Given the description of an element on the screen output the (x, y) to click on. 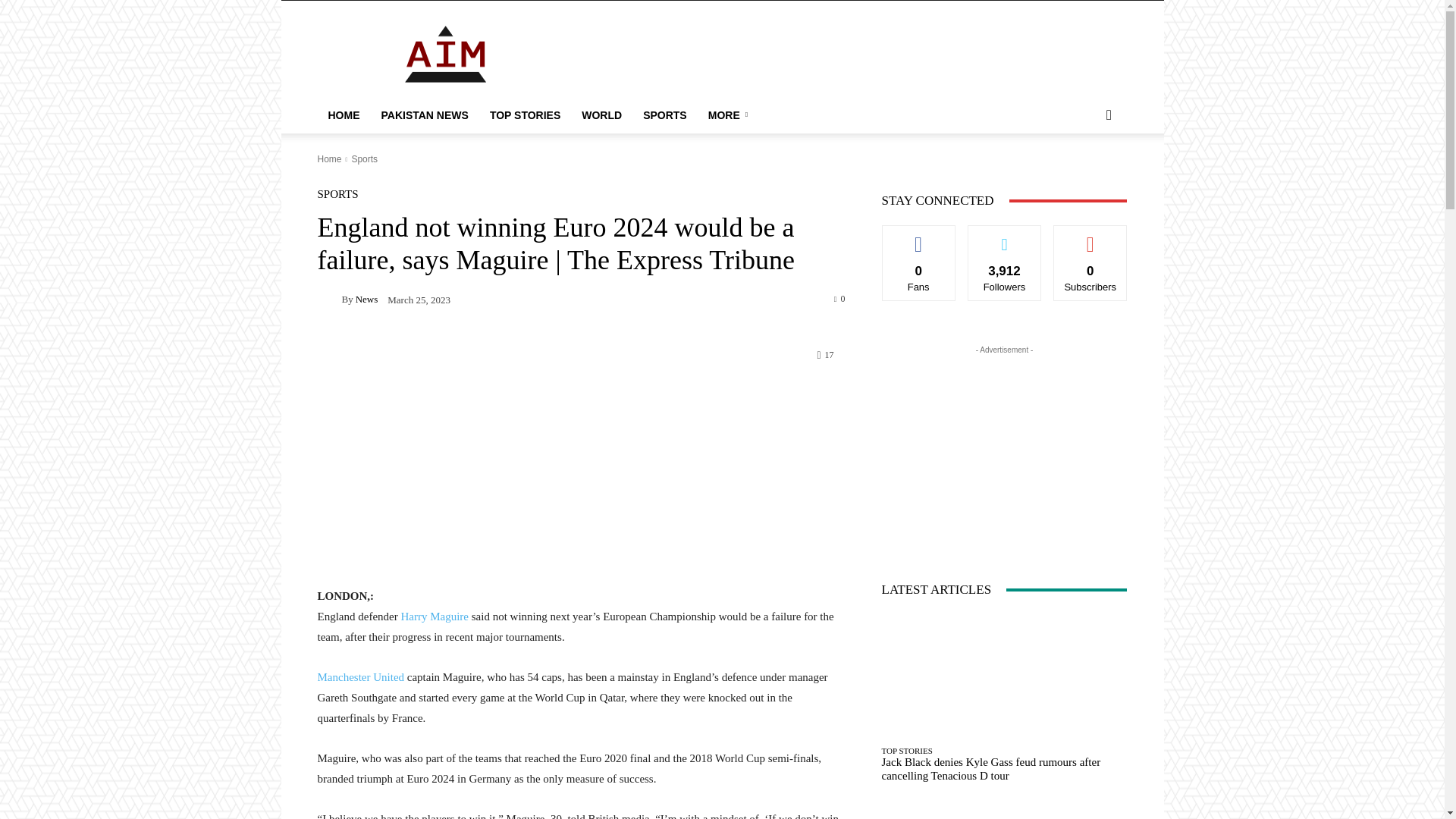
News (366, 298)
Search (1085, 175)
HOME (343, 115)
SPORTS (337, 194)
Manchester United (360, 676)
TOP STORIES (524, 115)
WORLD (600, 115)
View all posts in Sports (363, 158)
PAKISTAN NEWS (424, 115)
SPORTS (664, 115)
0 (839, 297)
Harry Maguire (432, 616)
MORE (729, 115)
Home (328, 158)
Sports (363, 158)
